Given the description of an element on the screen output the (x, y) to click on. 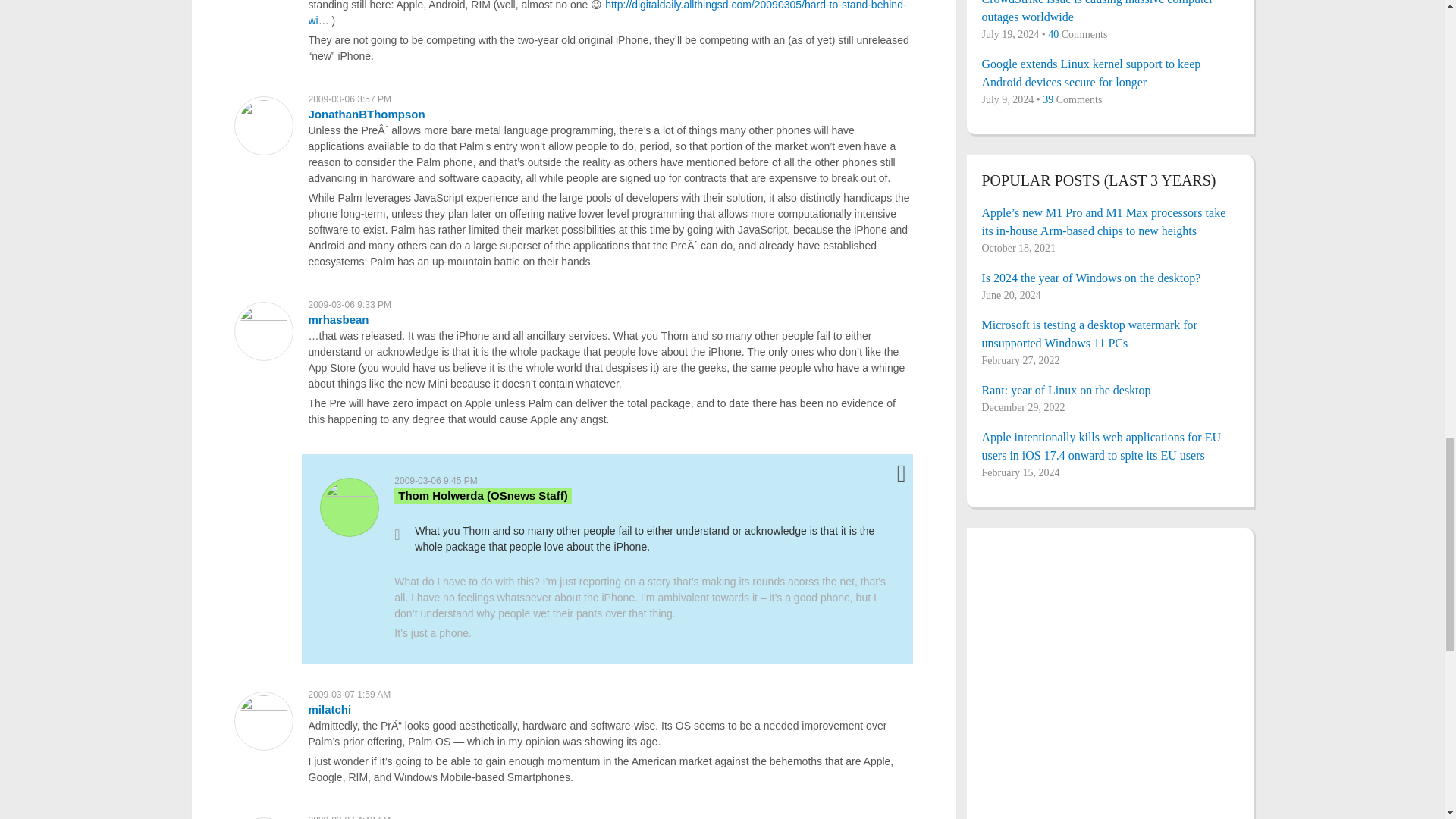
JonathanBThompson (366, 113)
Thom Holwerda (482, 495)
milatchi (328, 708)
mrhasbean (337, 318)
